Given the description of an element on the screen output the (x, y) to click on. 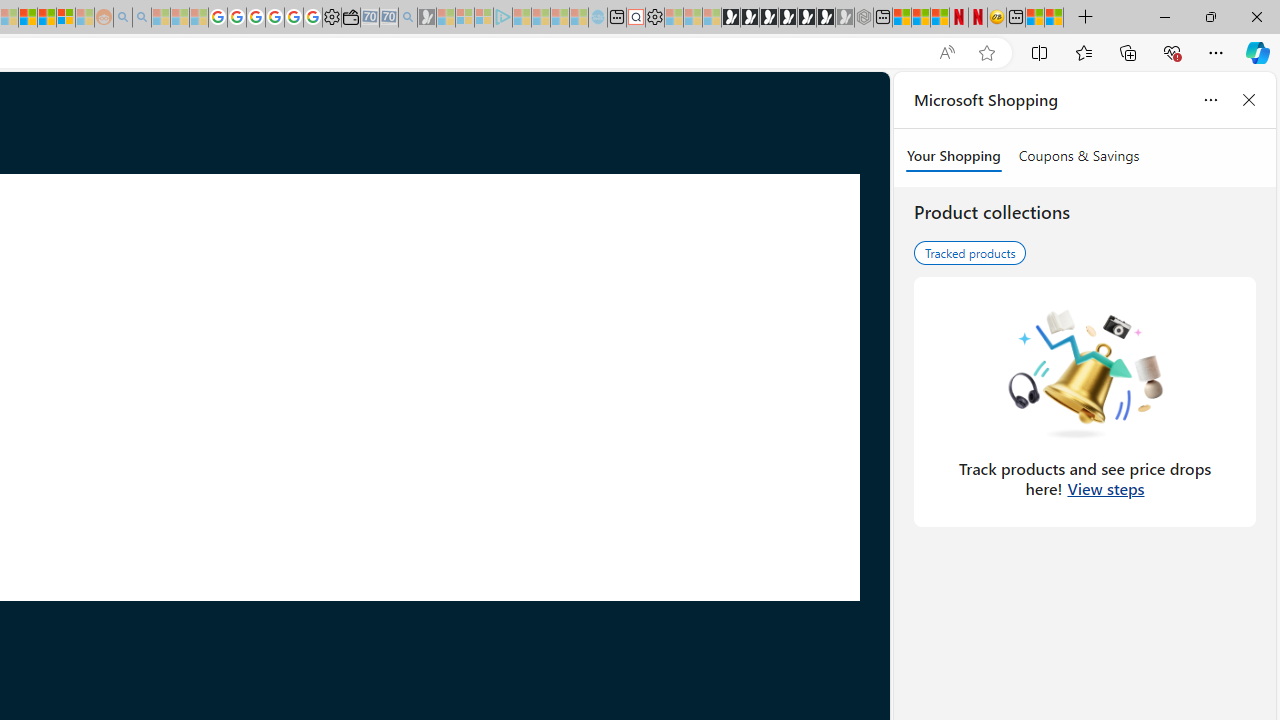
Microsoft Start - Sleeping (559, 17)
Microsoft account | Privacy - Sleeping (483, 17)
Expert Portfolios (28, 17)
